Given the description of an element on the screen output the (x, y) to click on. 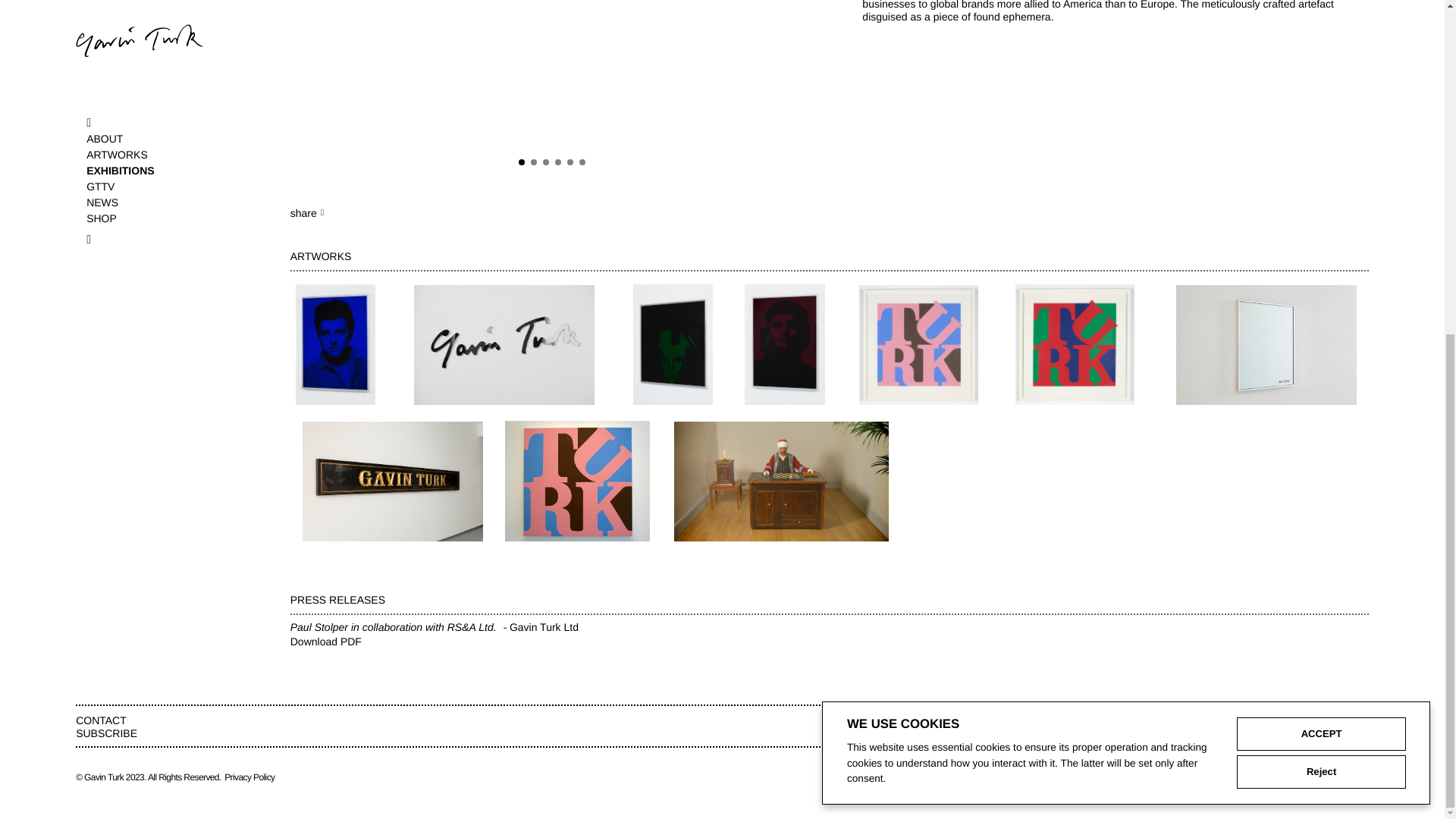
Erutangis (504, 344)
Turk Love (577, 481)
Enlarge (553, 65)
Turk Love Pink (919, 344)
Your Authorised Reflection (1265, 344)
Shop Sign (392, 481)
Turk Love Red (1074, 344)
The Mechanical Turk (780, 481)
